Given the description of an element on the screen output the (x, y) to click on. 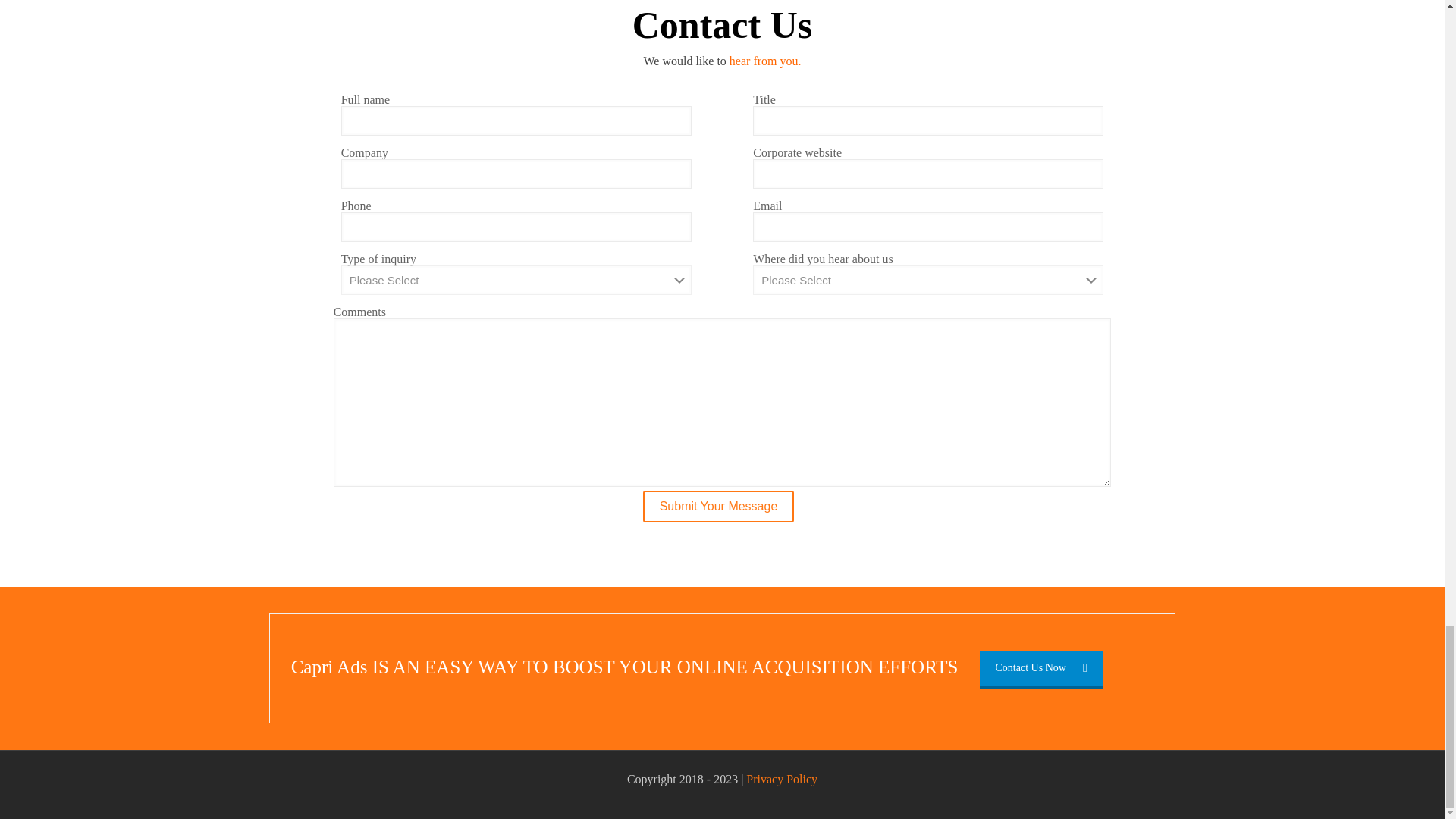
Privacy Policy (780, 779)
Submit Your Message (718, 506)
Contact Us Now (1041, 667)
Submit Your Message (718, 506)
